Given the description of an element on the screen output the (x, y) to click on. 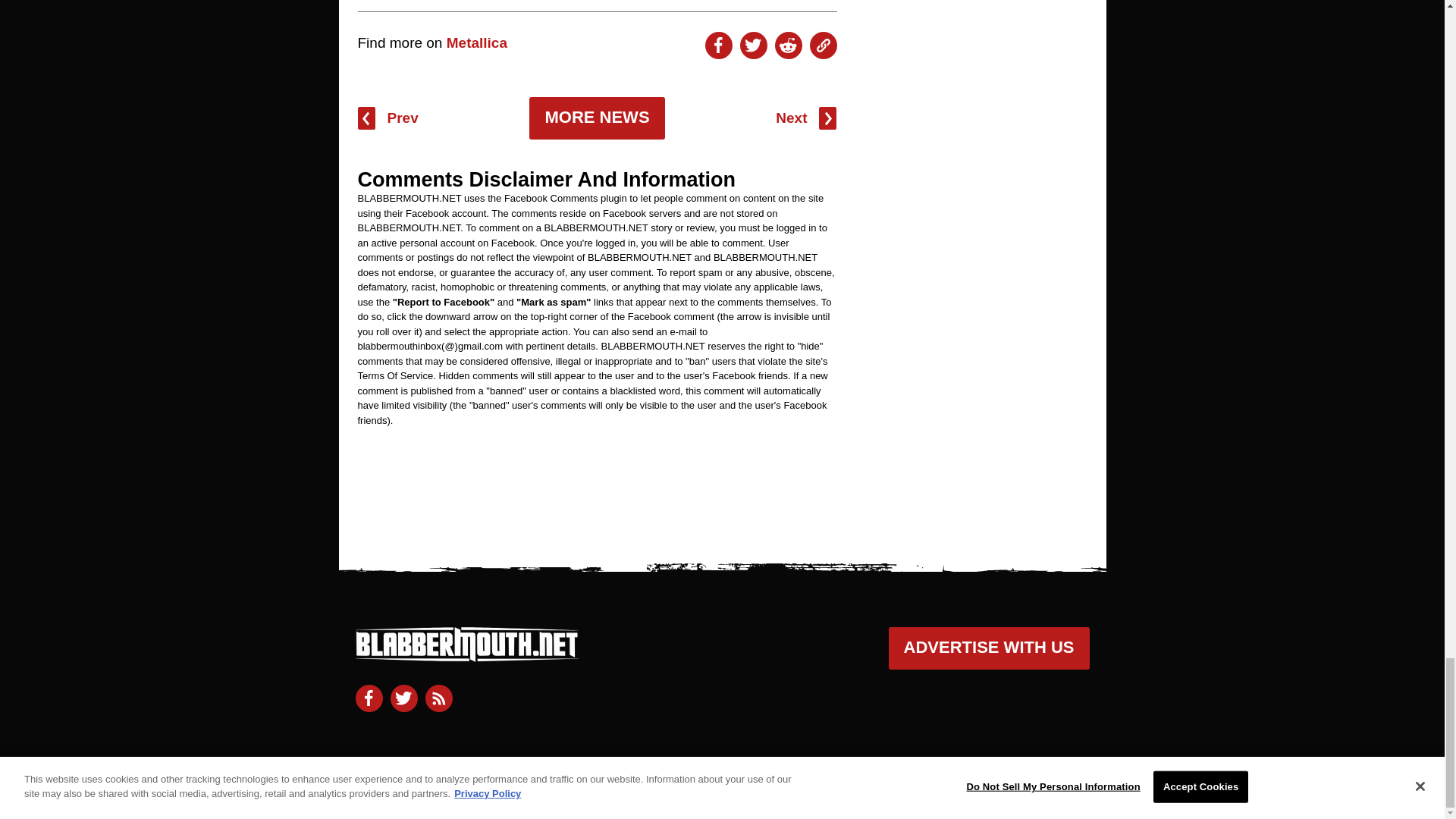
MORE NEWS (596, 118)
Share On Twitter (753, 44)
Share On Reddit (788, 44)
blabbermouth (466, 655)
Share On Facebook (718, 44)
Next (805, 118)
Copy To Clipboard (823, 44)
Prev (388, 118)
Metallica (476, 42)
